Given the description of an element on the screen output the (x, y) to click on. 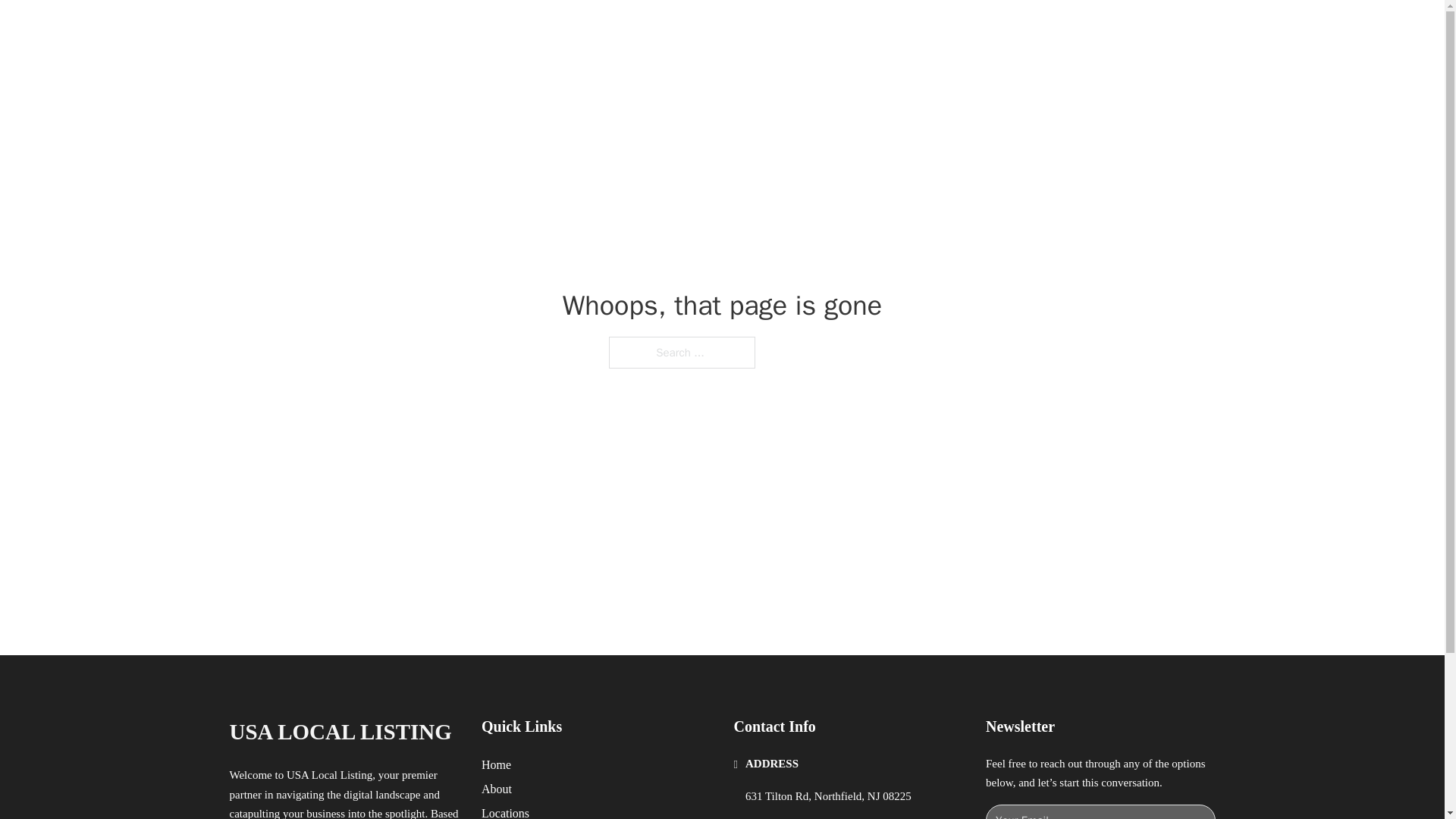
About (496, 788)
USA LOCAL LISTING (408, 28)
LOCATIONS (990, 29)
Locations (505, 811)
Home (496, 764)
USA LOCAL LISTING (339, 732)
HOME (919, 29)
